Given the description of an element on the screen output the (x, y) to click on. 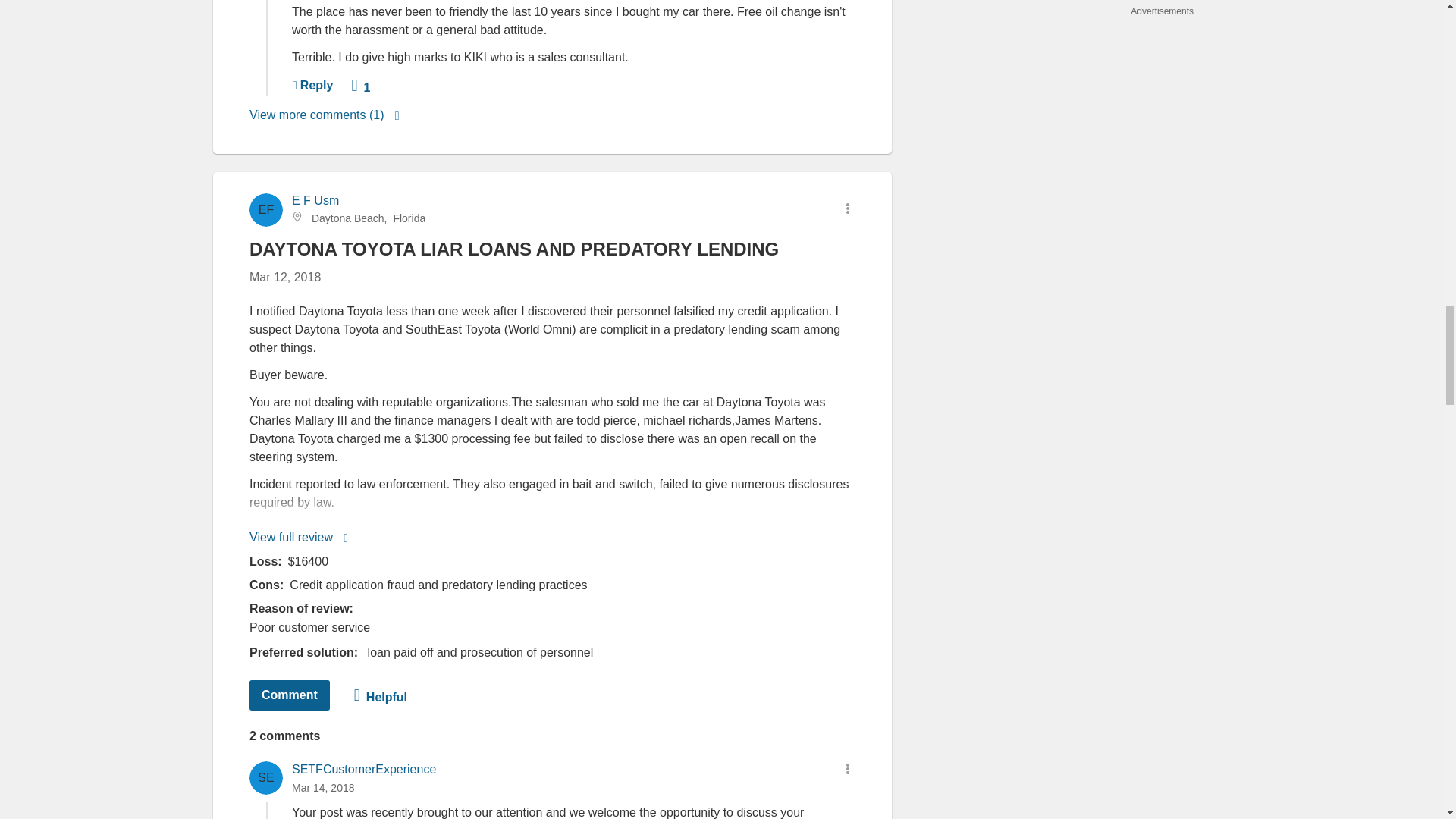
E F Usm - Profile Info (314, 200)
E F Usm (314, 200)
SETFCustomerExperience (363, 769)
